Given the description of an element on the screen output the (x, y) to click on. 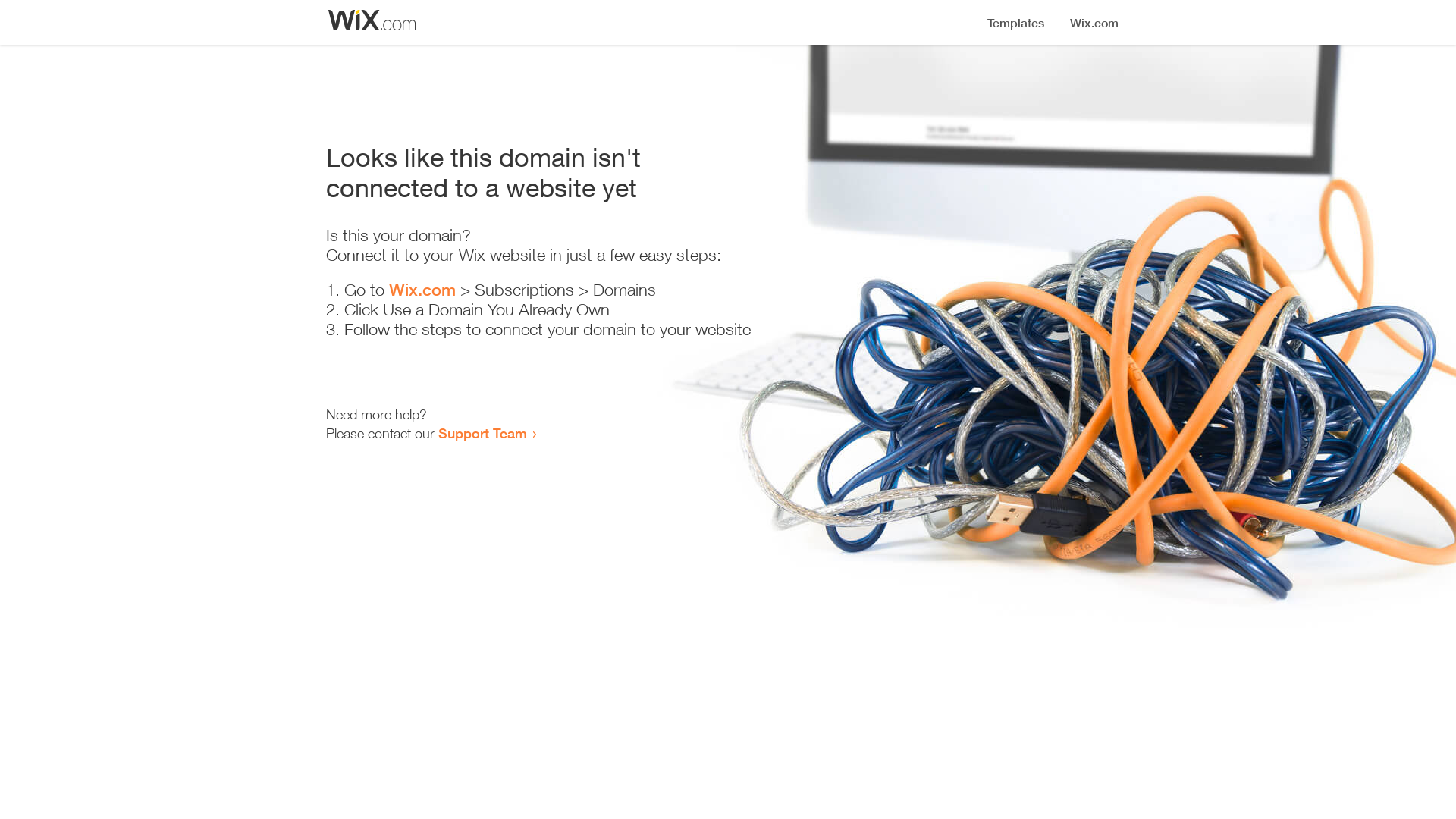
Wix.com Element type: text (422, 289)
Support Team Element type: text (482, 432)
